Given the description of an element on the screen output the (x, y) to click on. 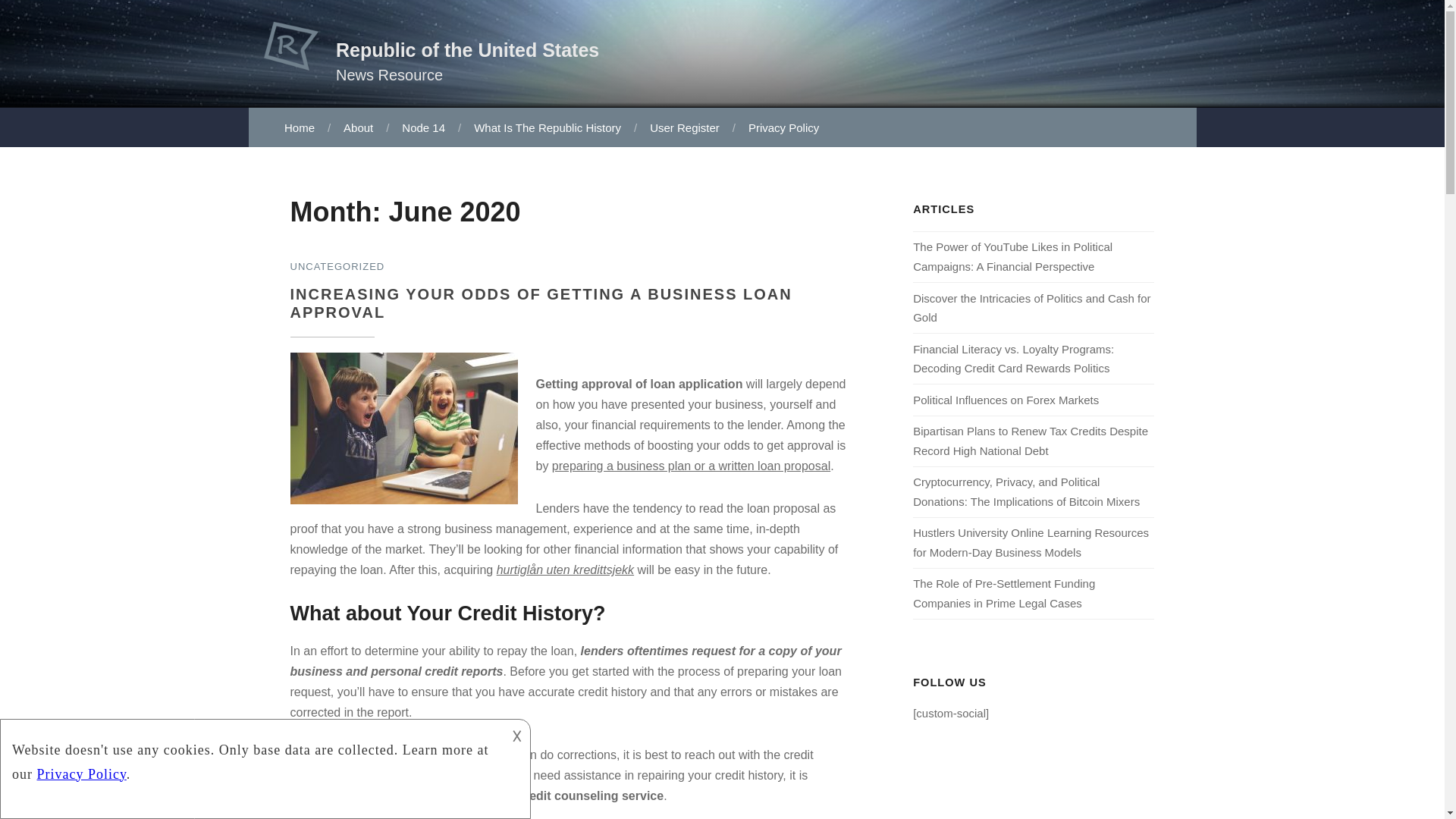
Privacy Policy (782, 127)
description (252, 757)
Node 14 (422, 127)
What Is The Republic History (545, 127)
News Resource (389, 74)
Political Influences on Forex Markets (1005, 399)
User Register (682, 127)
INCREASING YOUR ODDS OF GETTING A BUSINESS LOAN APPROVAL (540, 303)
Discover the Intricacies of Politics and Cash for Gold (1031, 307)
Home (299, 127)
